Given the description of an element on the screen output the (x, y) to click on. 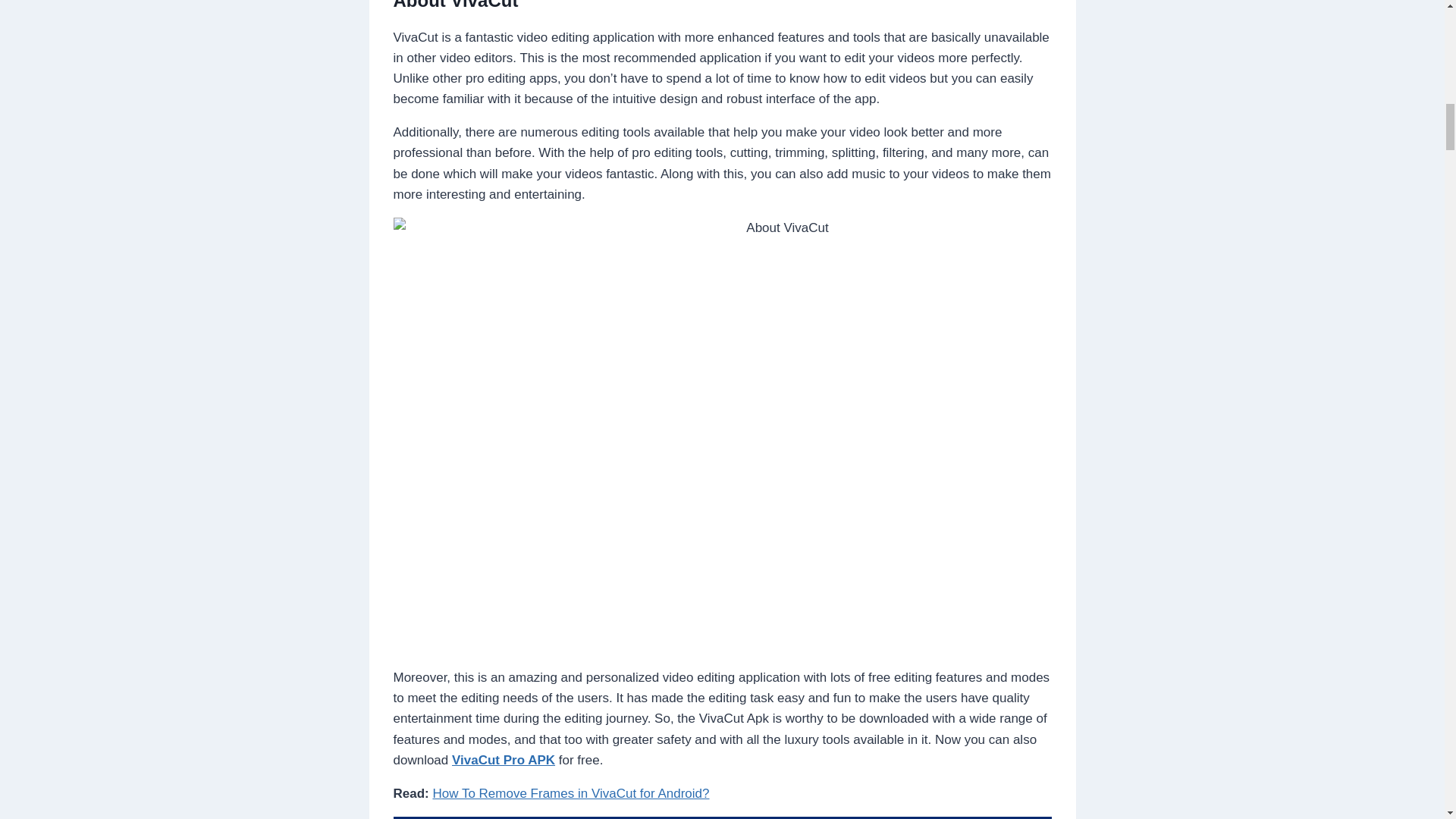
How To Remove Frames in VivaCut for Android? (570, 793)
VivaCut Pro APK (502, 759)
